Given the description of an element on the screen output the (x, y) to click on. 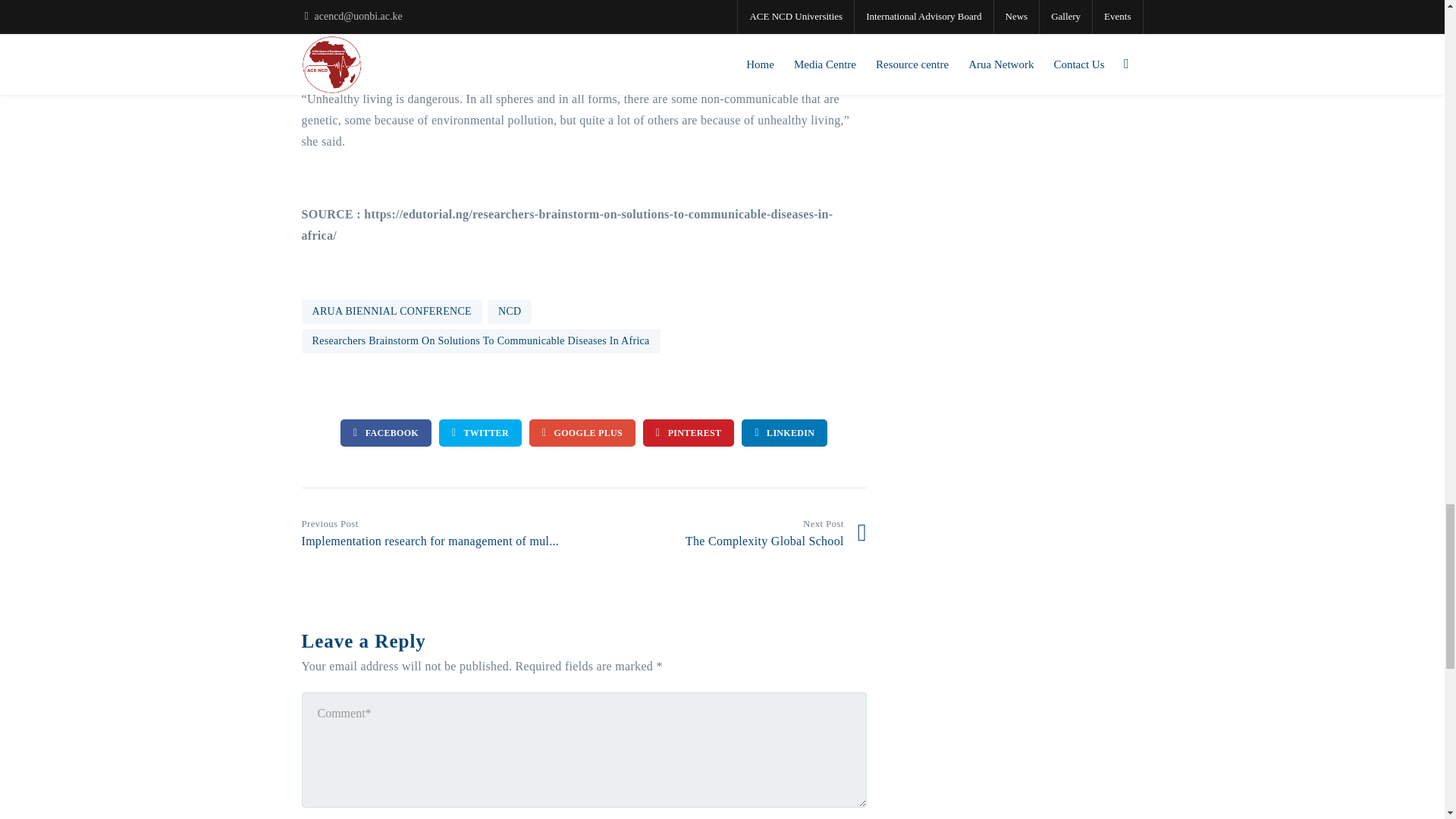
NCD (509, 311)
FACEBOOK (385, 432)
LinkedIn (784, 432)
ARUA BIENNIAL CONFERENCE (391, 311)
The Complexity Global School (730, 532)
Google Plus (581, 432)
Pinterest (688, 432)
Twitter (480, 432)
